Given the description of an element on the screen output the (x, y) to click on. 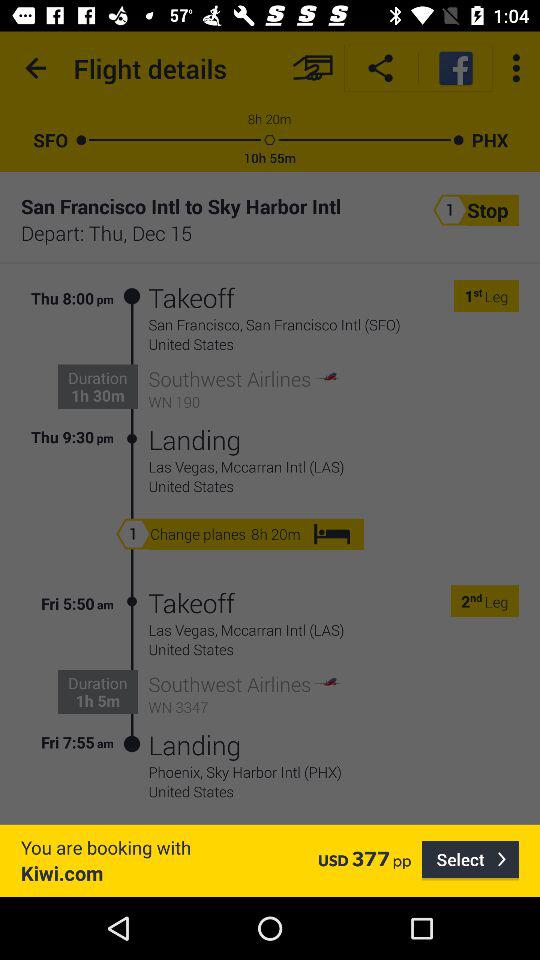
payment information (312, 67)
